Given the description of an element on the screen output the (x, y) to click on. 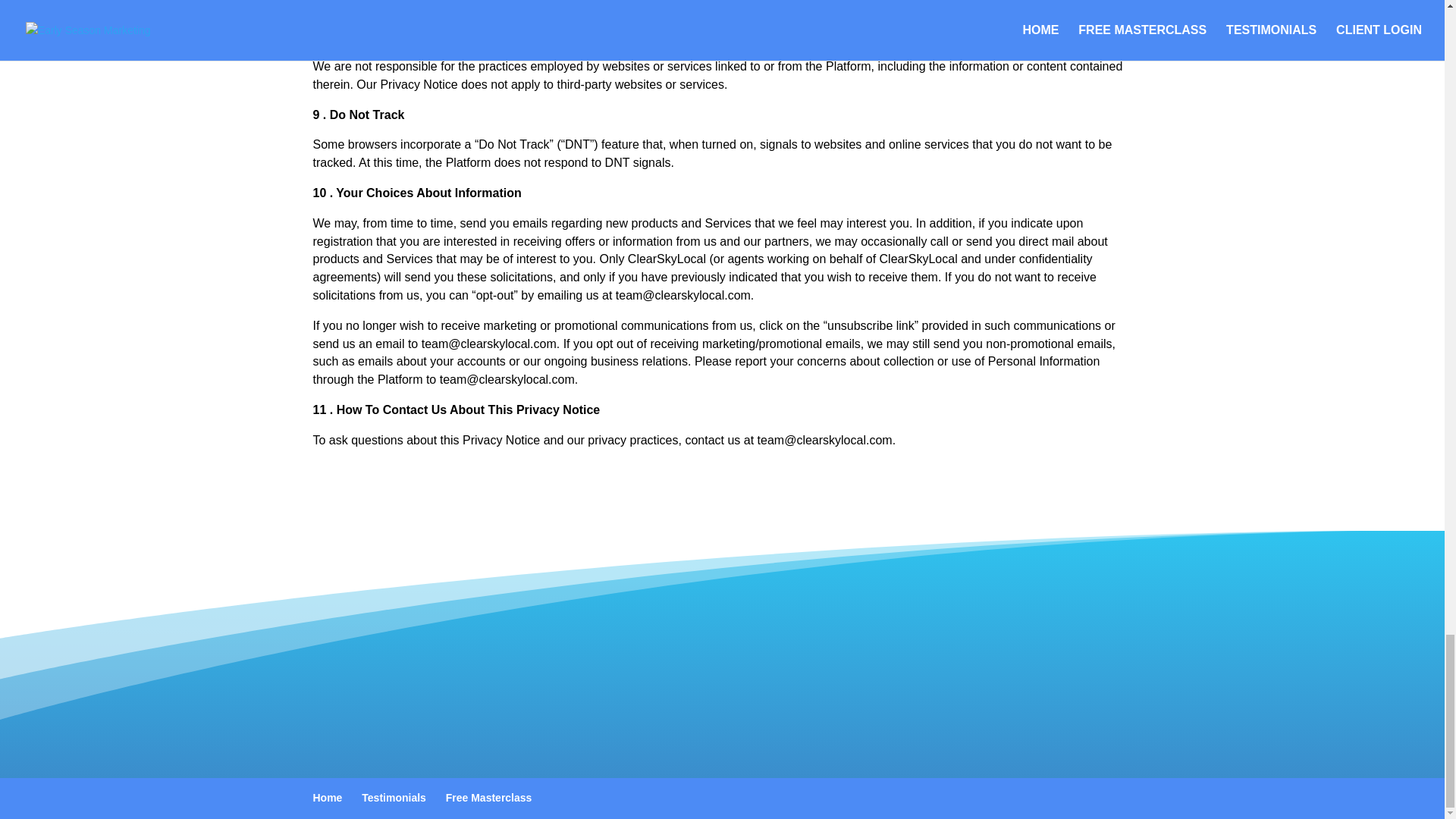
Home (327, 797)
Free Masterclass (488, 797)
Testimonials (393, 797)
